Given the description of an element on the screen output the (x, y) to click on. 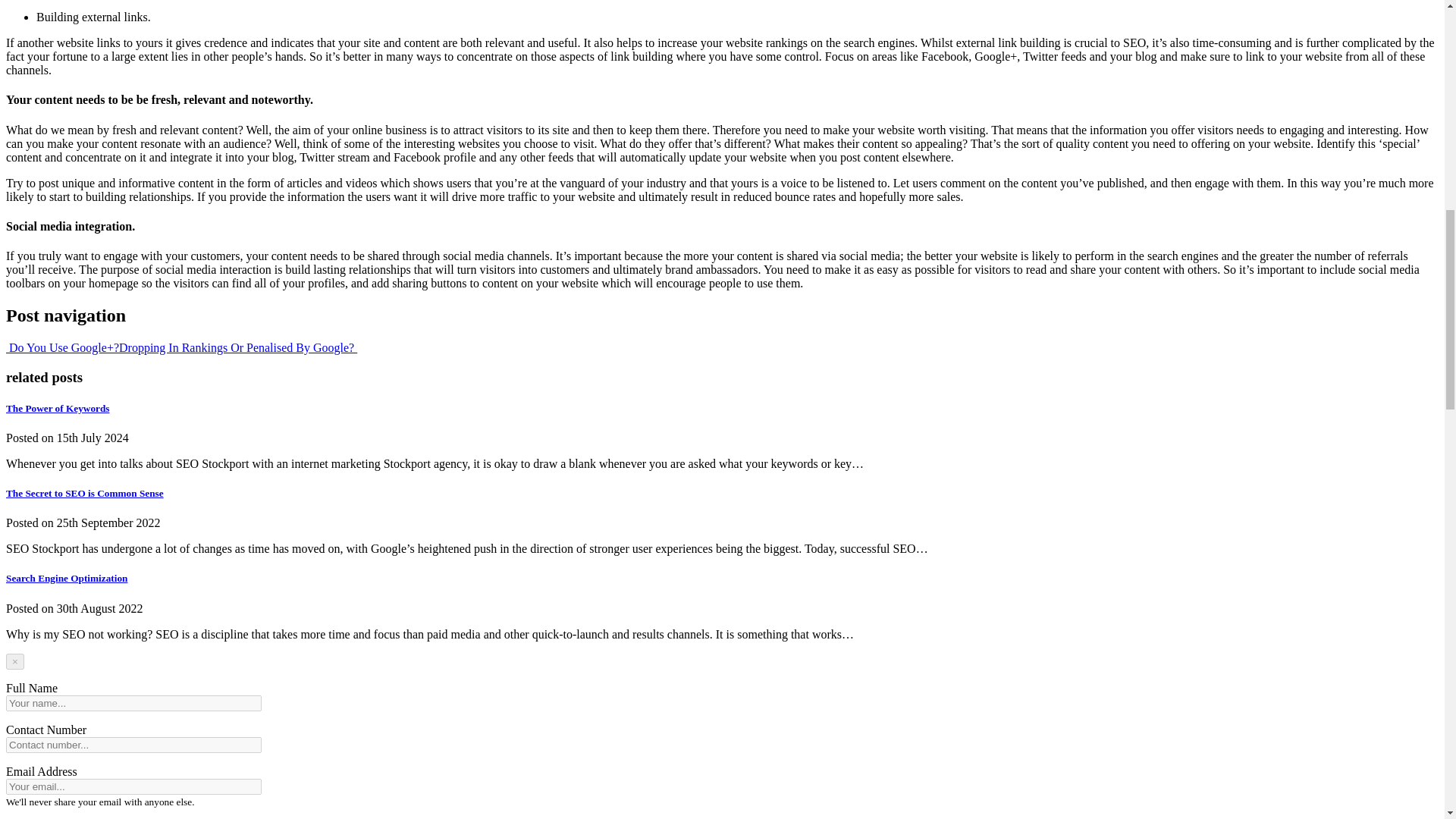
The Power of Keywords (57, 408)
Search Engine Optimization (66, 577)
The Secret to SEO is Common Sense (84, 492)
The Secret to SEO is Common Sense (84, 492)
Dropping In Rankings Or Penalised By Google?  (237, 347)
The Power of Keywords (57, 408)
